Given the description of an element on the screen output the (x, y) to click on. 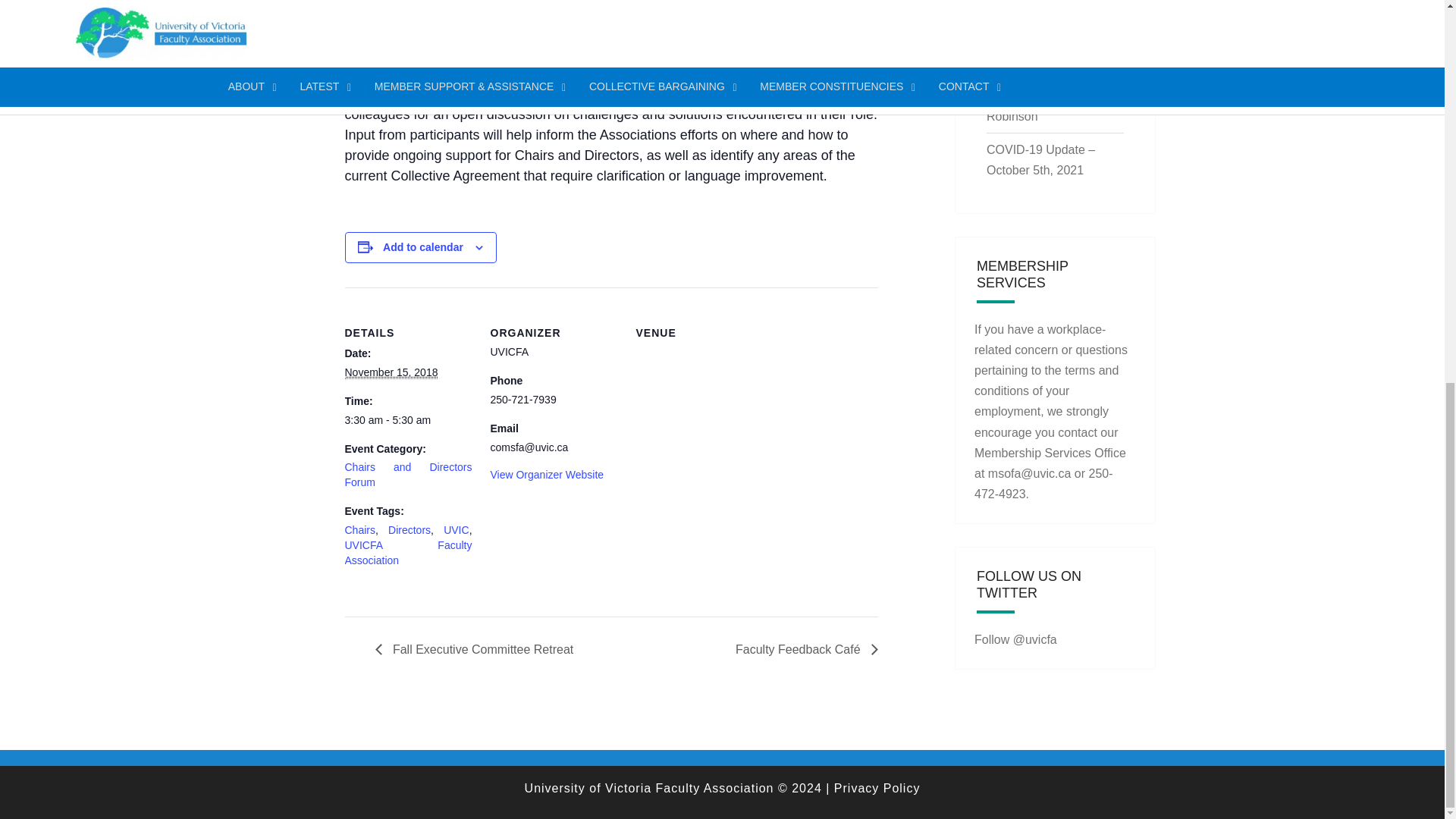
2018-11-15 (390, 372)
2018-11-15 (407, 420)
